Given the description of an element on the screen output the (x, y) to click on. 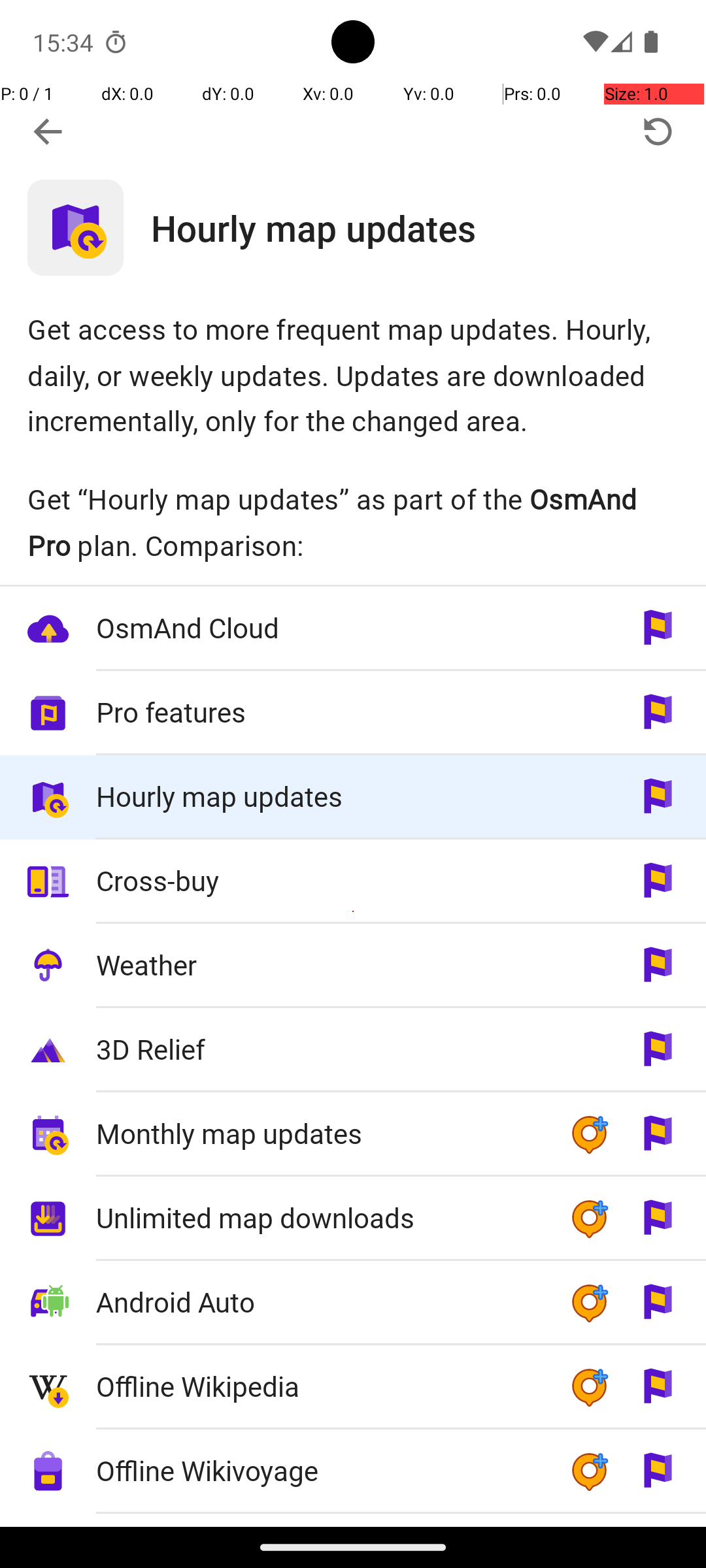
Hourly map updates Element type: android.widget.TextView (428, 227)
Restore purchases Element type: android.widget.ImageButton (657, 131)
Get access to more frequent map updates. Hourly, daily, or weekly updates. Updates are downloaded incrementally, only for the changed area. Element type: android.widget.TextView (353, 374)
Get “Hourly map updates” as part of the OsmAnd Pro plan. Comparison: Element type: android.widget.TextView (353, 521)
OsmAnd Cloud available as part of the OsmAnd Pro plan Element type: android.widget.LinearLayout (353, 628)
Pro features available as part of the OsmAnd Pro plan Element type: android.widget.LinearLayout (353, 712)
Hourly map updates available as part of the OsmAnd Pro plan Element type: android.widget.LinearLayout (353, 797)
Cross-buy available as part of the OsmAnd Pro plan Element type: android.widget.LinearLayout (353, 881)
Weather available as part of the OsmAnd Pro plan Element type: android.widget.LinearLayout (353, 965)
3D Relief available as part of the OsmAnd Pro plan Element type: android.widget.LinearLayout (353, 1050)
Monthly map updates available as part of the OsmAnd+ or OsmAnd Pro plan Element type: android.widget.LinearLayout (353, 1134)
Unlimited map downloads available as part of the OsmAnd+ or OsmAnd Pro plan Element type: android.widget.LinearLayout (353, 1218)
Android Auto available as part of the OsmAnd+ or OsmAnd Pro plan Element type: android.widget.LinearLayout (353, 1302)
Offline Wikipedia available as part of the OsmAnd+ or OsmAnd Pro plan Element type: android.widget.LinearLayout (353, 1387)
Offline Wikivoyage available as part of the OsmAnd+ or OsmAnd Pro plan Element type: android.widget.LinearLayout (353, 1471)
External sensors support available as part of the OsmAnd+ or OsmAnd Pro plan Element type: android.widget.LinearLayout (353, 1519)
OsmAnd Cloud Element type: android.widget.TextView (318, 627)
Pro features Element type: android.widget.TextView (318, 711)
Cross-buy Element type: android.widget.TextView (318, 879)
Weather Element type: android.widget.TextView (318, 964)
3D Relief Element type: android.widget.TextView (318, 1048)
Monthly map updates Element type: android.widget.TextView (318, 1132)
Unlimited map downloads Element type: android.widget.TextView (318, 1217)
Offline Wikipedia Element type: android.widget.TextView (318, 1385)
Offline Wikivoyage Element type: android.widget.TextView (318, 1469)
External sensors support Element type: android.widget.TextView (318, 1520)
